Given the description of an element on the screen output the (x, y) to click on. 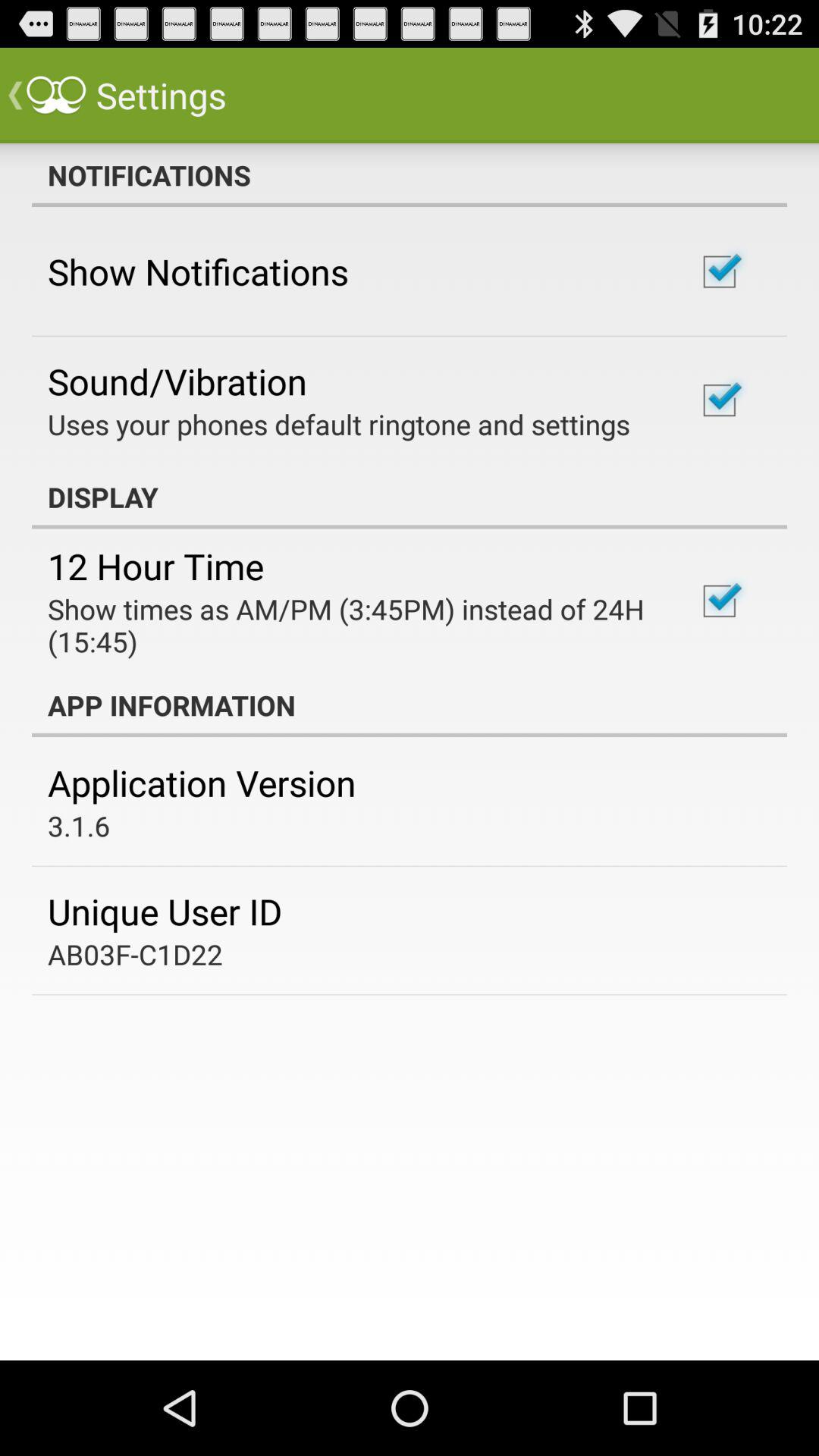
select the show times as app (351, 625)
